Given the description of an element on the screen output the (x, y) to click on. 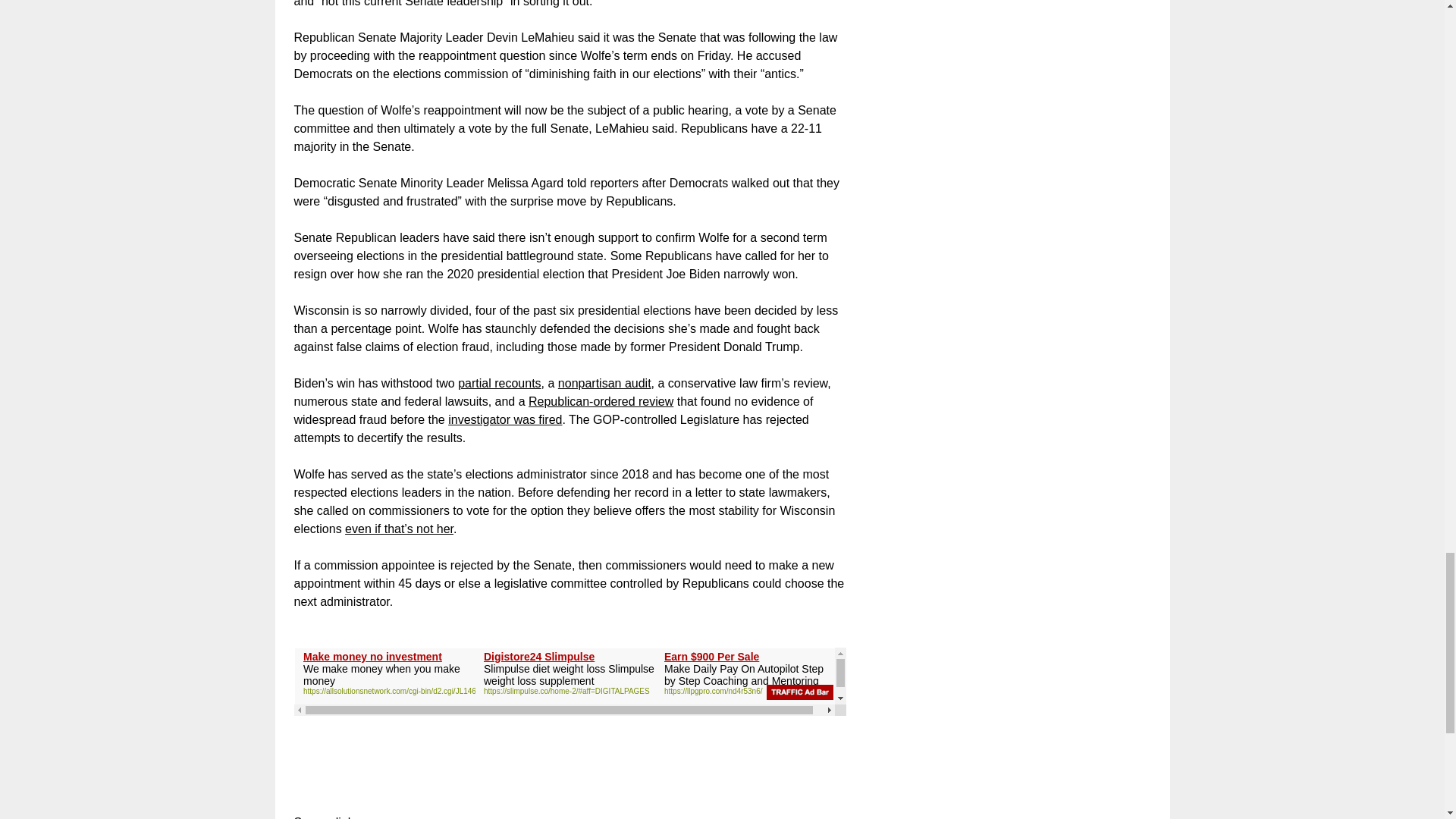
partial recounts (499, 382)
investigator was fired (505, 419)
nonpartisan audit (603, 382)
Source link (323, 817)
Republican-ordered review (600, 400)
